Given the description of an element on the screen output the (x, y) to click on. 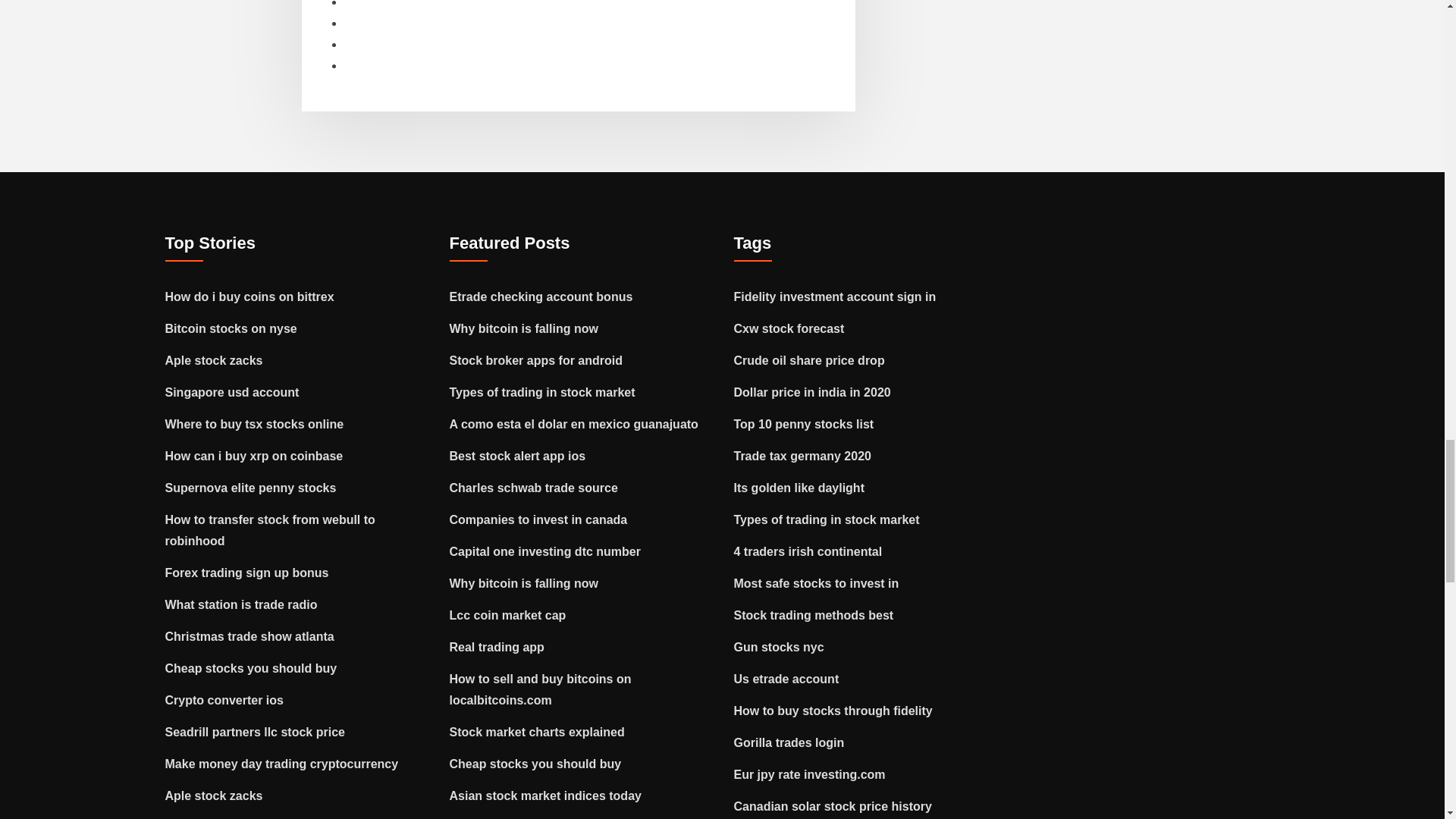
Where to buy tsx stocks online (254, 423)
What station is trade radio (241, 604)
Aple stock zacks (214, 359)
How to transfer stock from webull to robinhood (270, 530)
Forex trading sign up bonus (247, 572)
How can i buy xrp on coinbase (254, 455)
Seadrill partners llc stock price (255, 731)
Make money day trading cryptocurrency (281, 763)
Supernova elite penny stocks (250, 487)
Bitcoin stocks on nyse (231, 328)
